Given the description of an element on the screen output the (x, y) to click on. 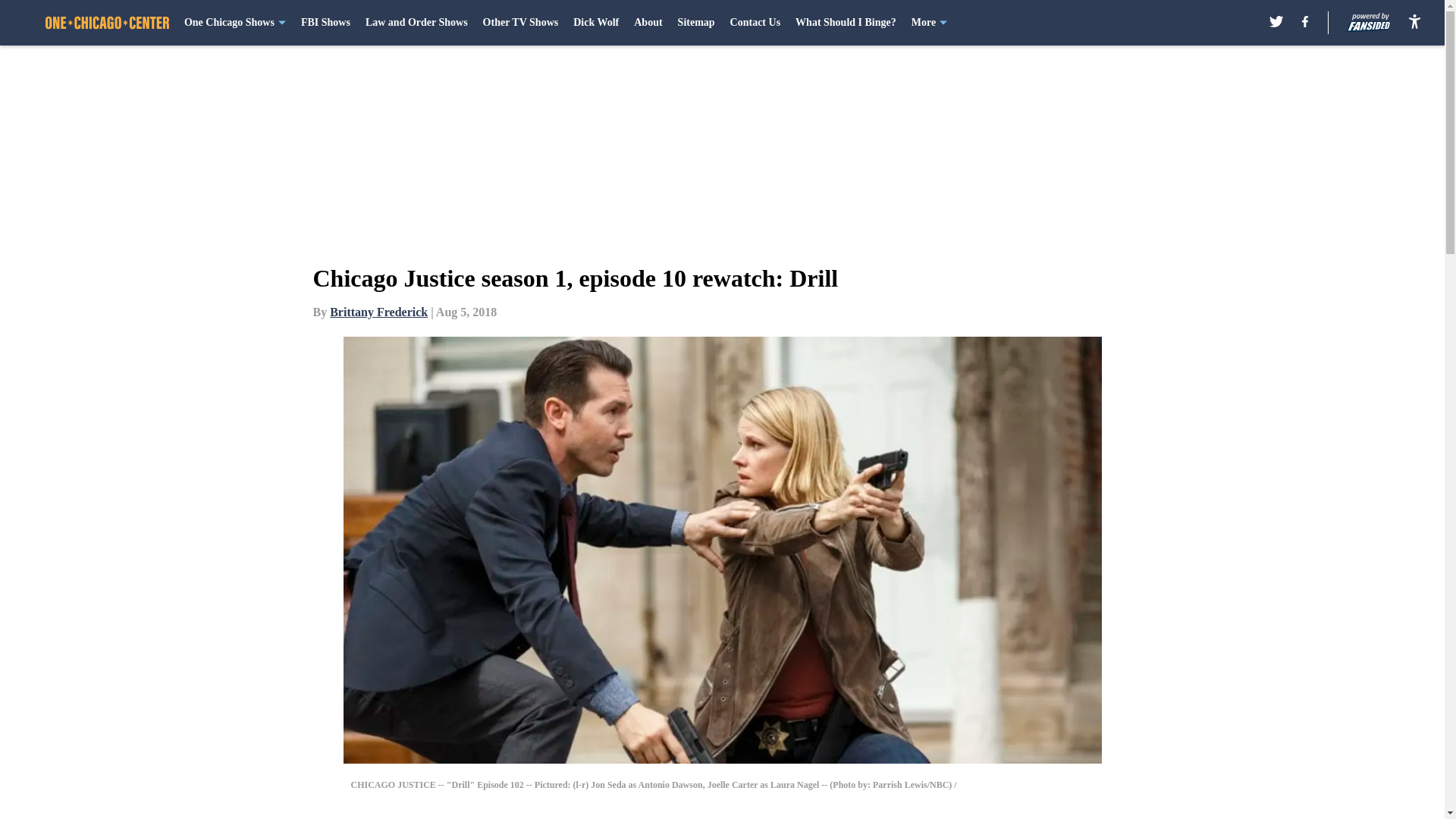
Contact Us (755, 22)
About (647, 22)
Other TV Shows (521, 22)
FBI Shows (325, 22)
What Should I Binge? (845, 22)
Dick Wolf (595, 22)
Brittany Frederick (379, 311)
Law and Order Shows (416, 22)
More (929, 22)
Sitemap (696, 22)
